Given the description of an element on the screen output the (x, y) to click on. 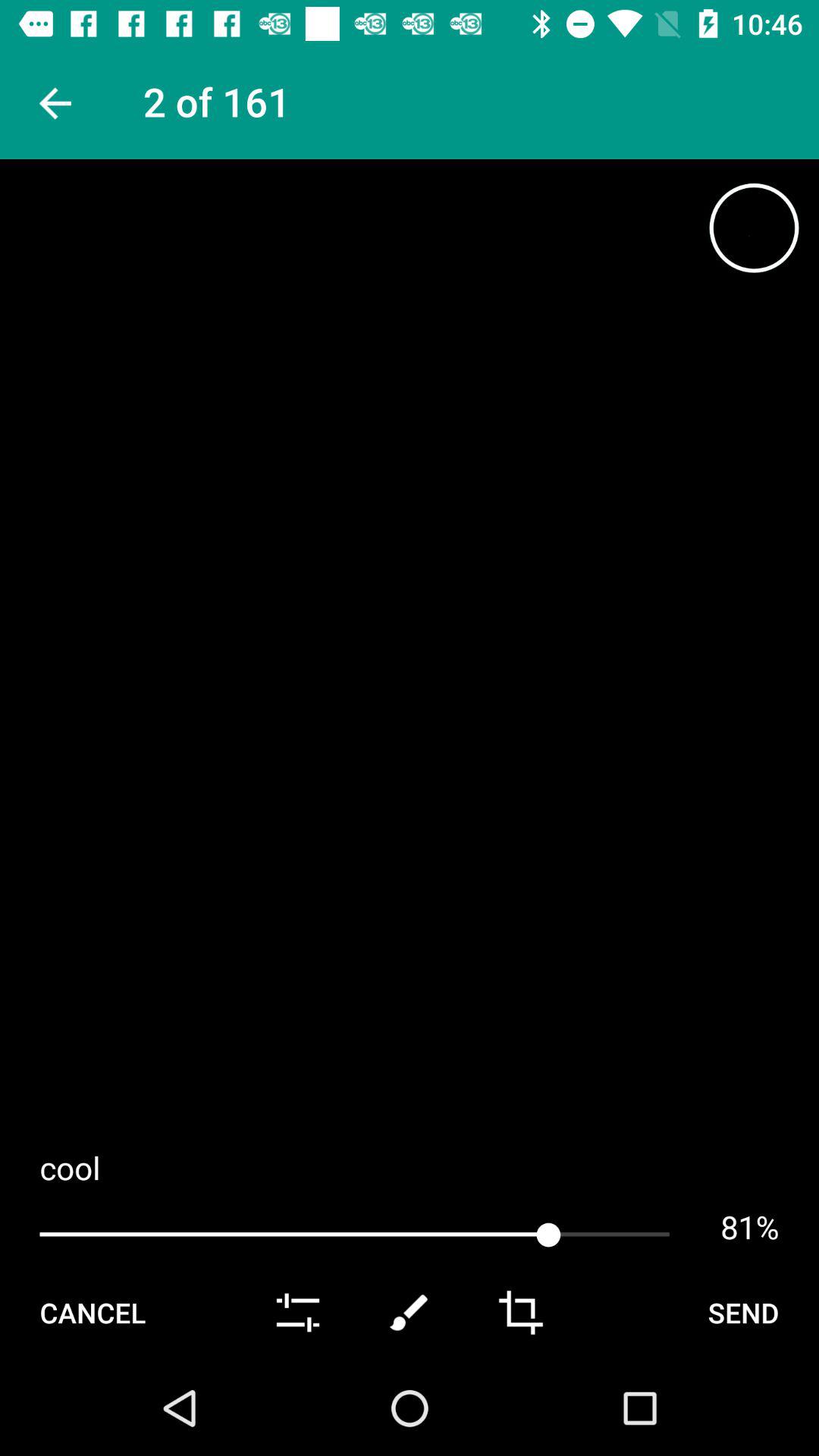
open the icon to the left of send app (520, 1312)
